Given the description of an element on the screen output the (x, y) to click on. 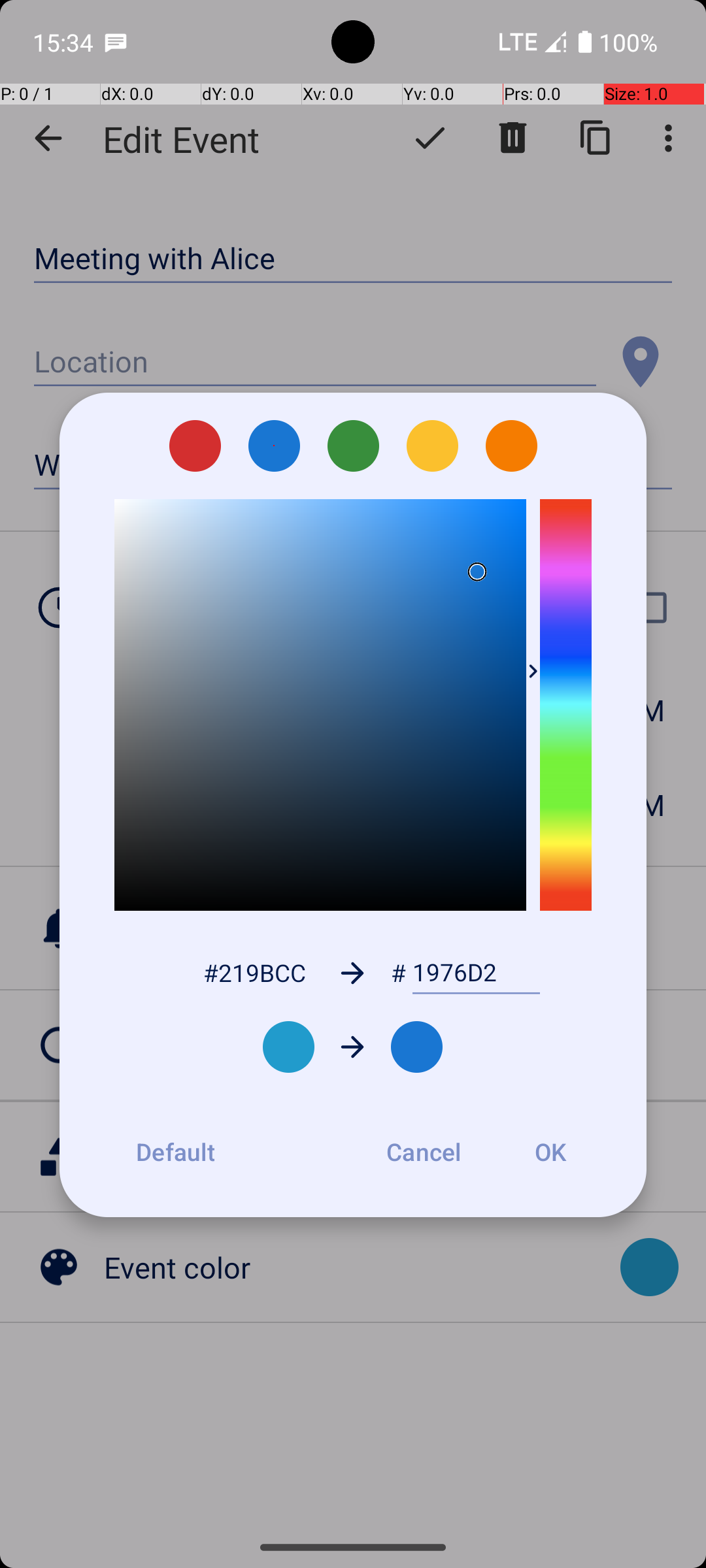
1976D2 Element type: android.widget.EditText (475, 972)
